Given the description of an element on the screen output the (x, y) to click on. 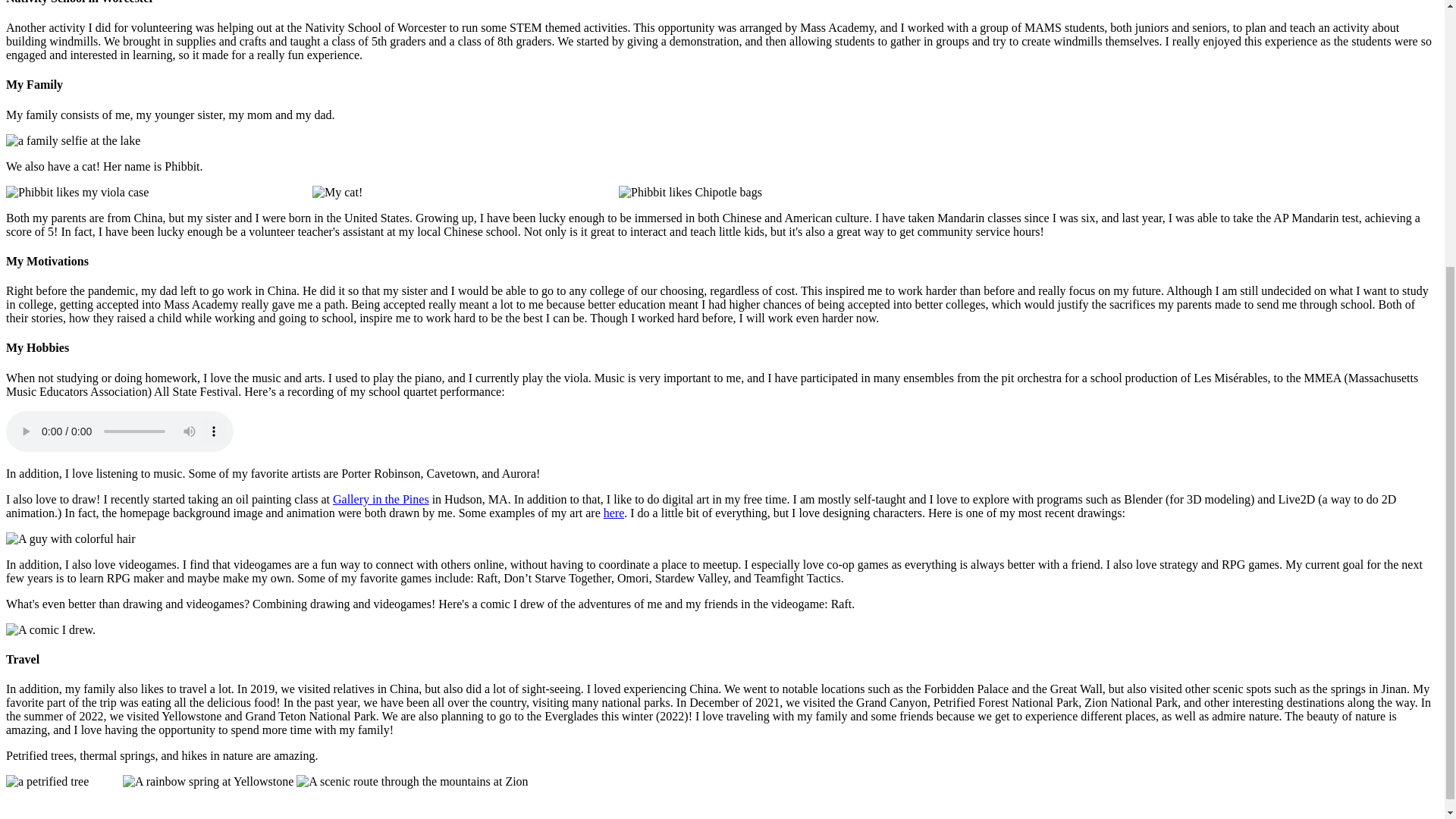
here (614, 512)
Gallery in the Pines (381, 499)
